Given the description of an element on the screen output the (x, y) to click on. 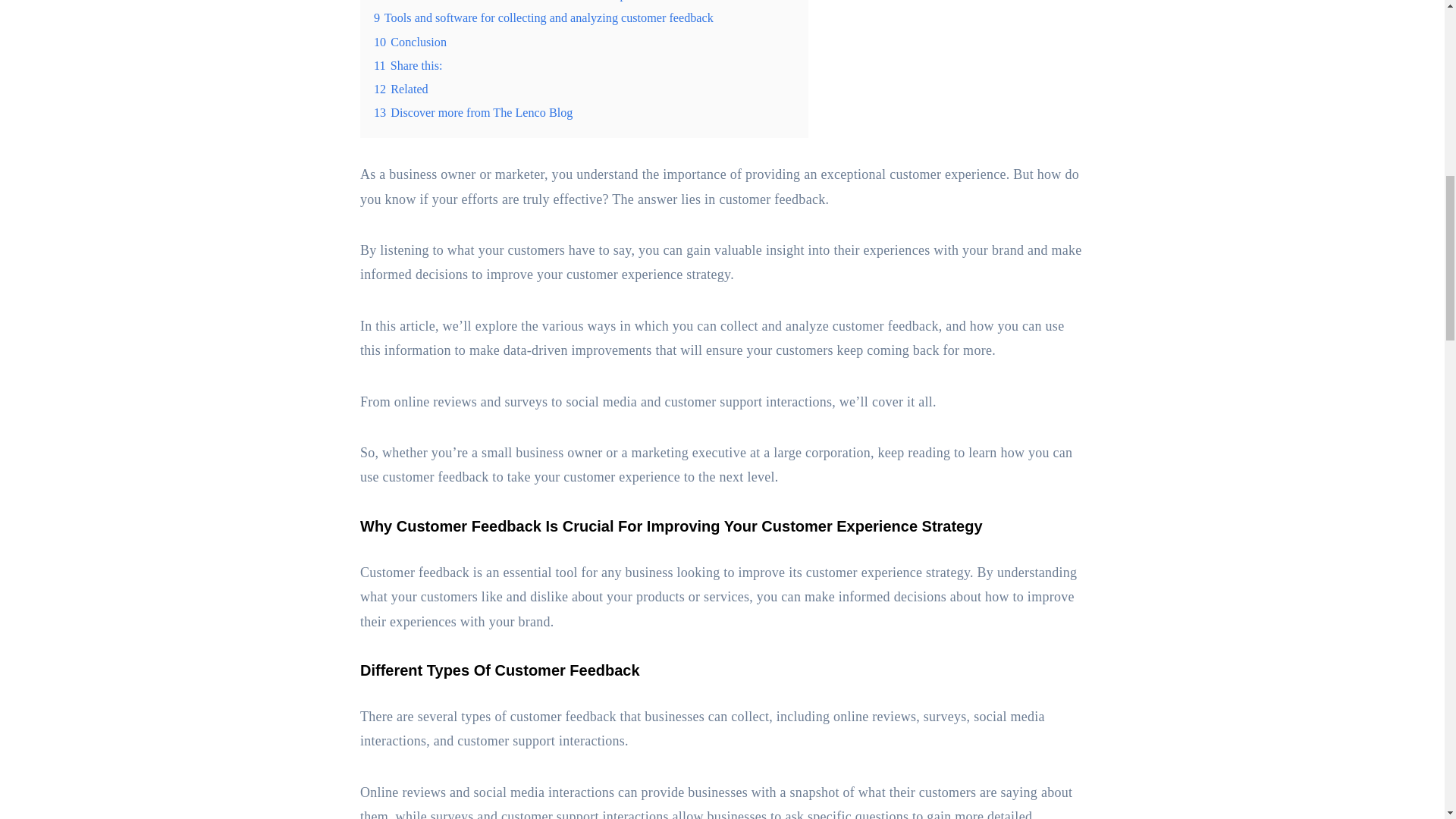
11 Share this: (408, 65)
12 Related (401, 89)
10 Conclusion (410, 42)
13 Discover more from The Lenco Blog (473, 112)
